Given the description of an element on the screen output the (x, y) to click on. 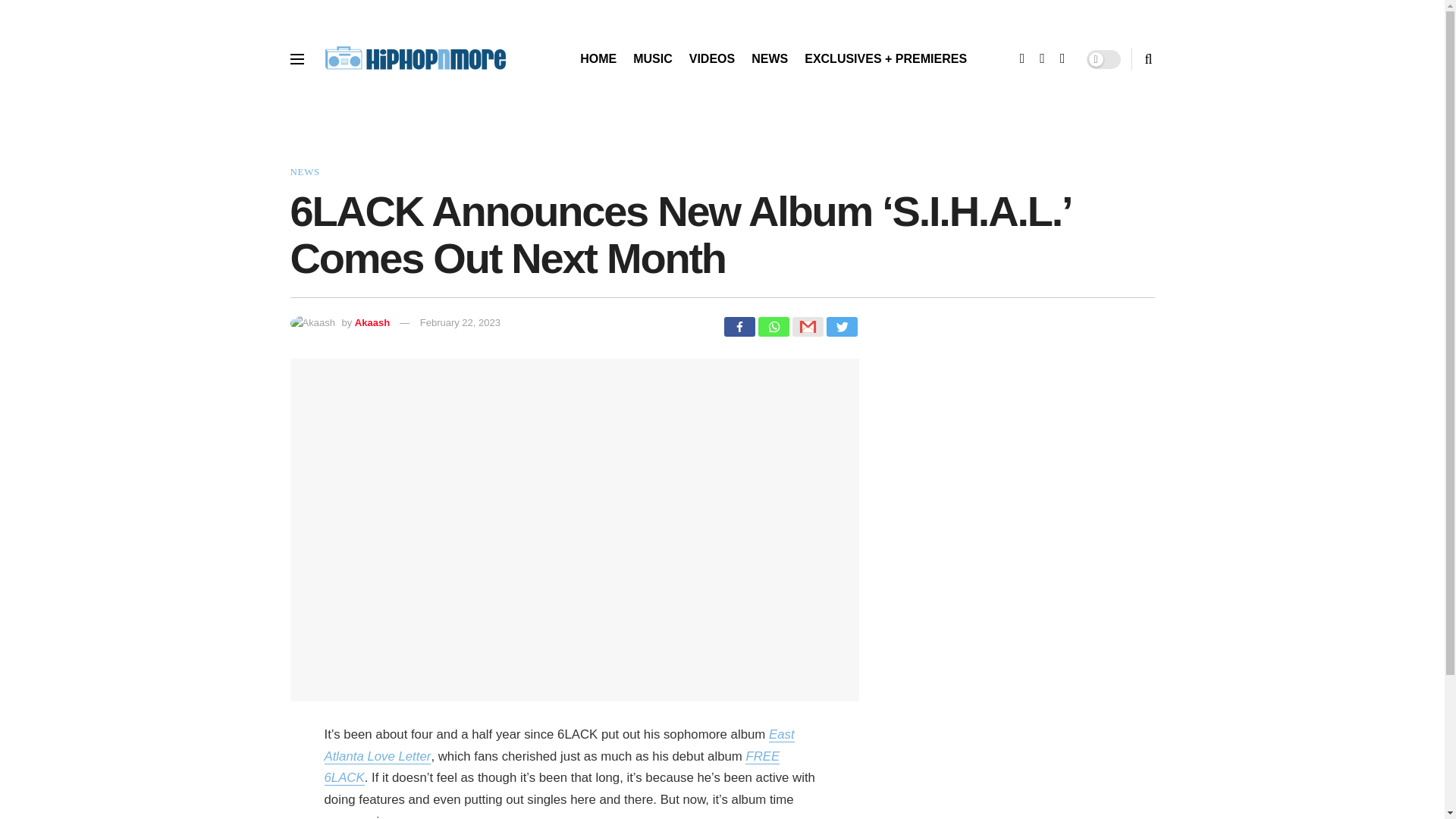
HOME (597, 58)
VIDEOS (711, 58)
Facebook (738, 326)
NEWS (303, 171)
February 22, 2023 (460, 322)
Twitter (842, 326)
Akaash (372, 322)
Whatsapp (773, 326)
Google Gmail (807, 326)
NEWS (769, 58)
MUSIC (652, 58)
